Given the description of an element on the screen output the (x, y) to click on. 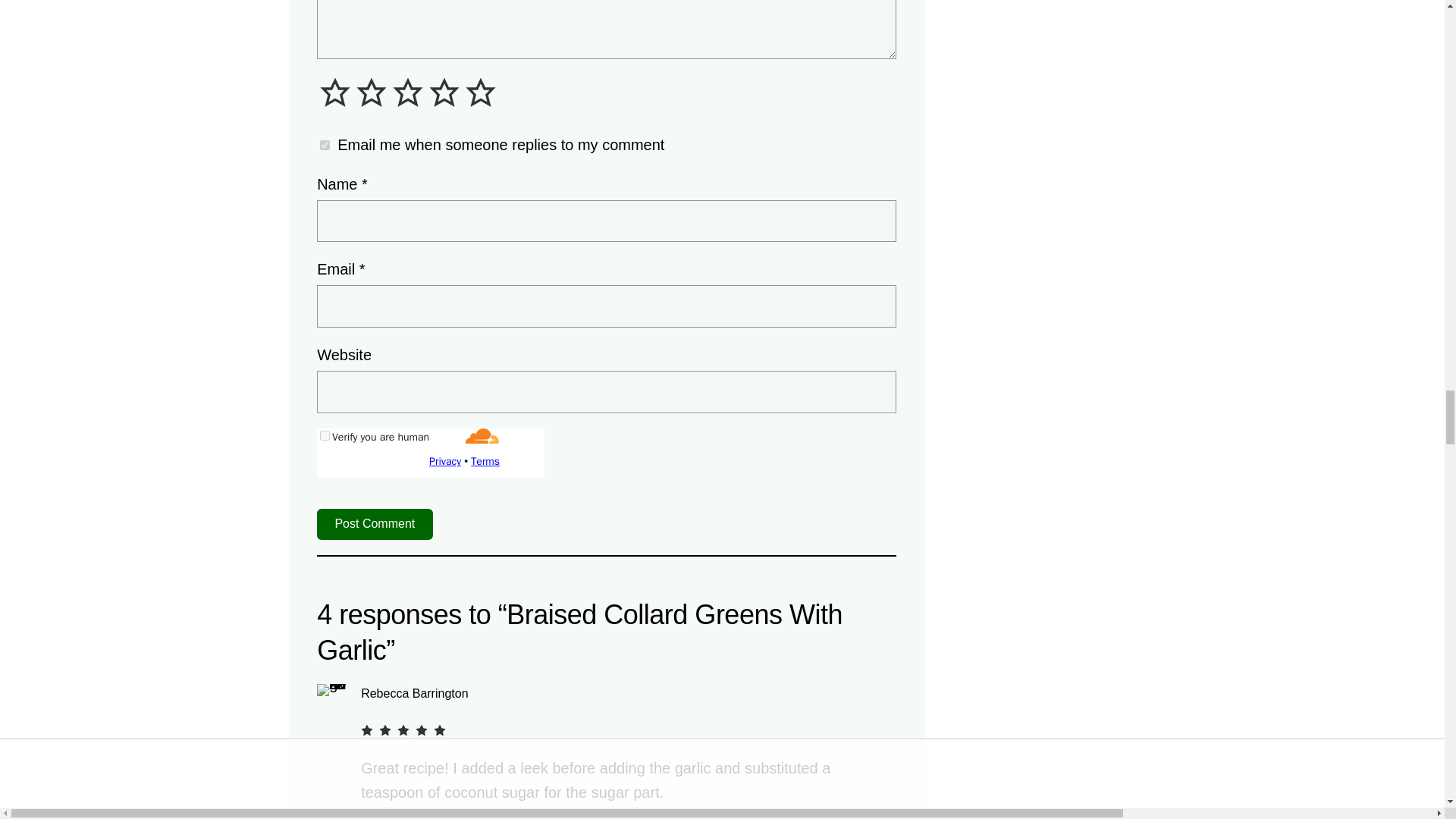
Post Comment (374, 523)
Post Comment (374, 523)
